Given the description of an element on the screen output the (x, y) to click on. 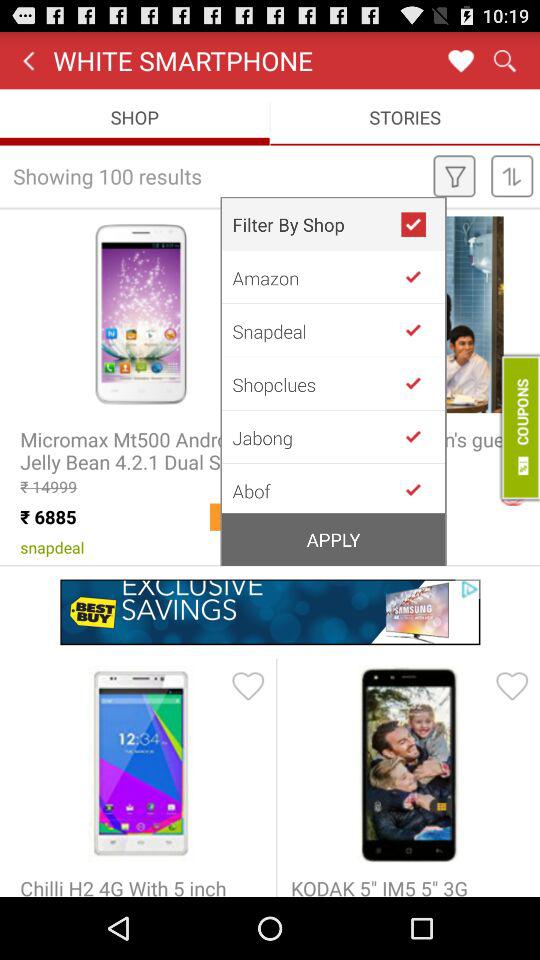
click the amazon icon (316, 277)
